Given the description of an element on the screen output the (x, y) to click on. 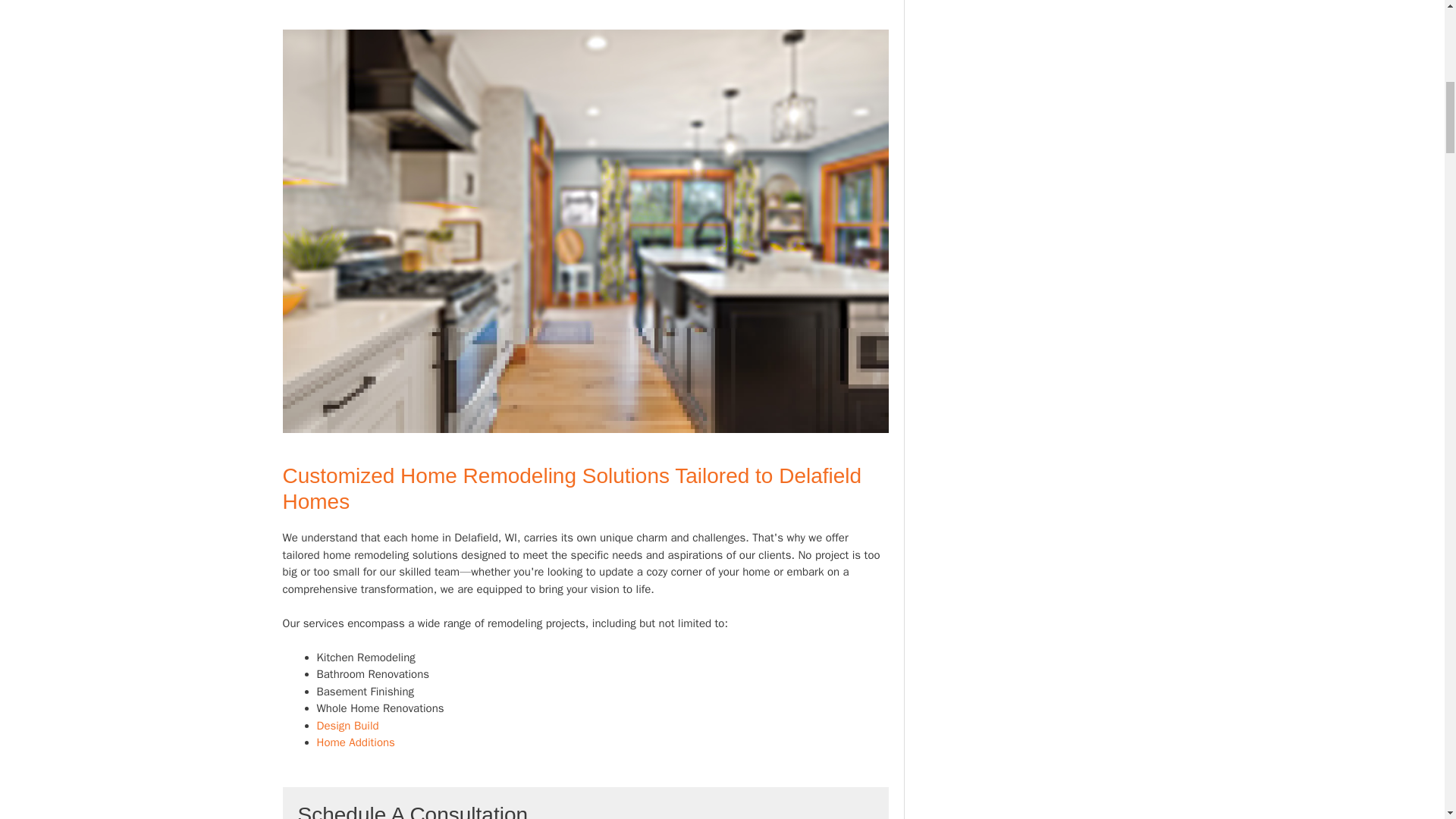
Home Additions (355, 742)
Design Build (347, 725)
Scroll back to top (1406, 720)
